Given the description of an element on the screen output the (x, y) to click on. 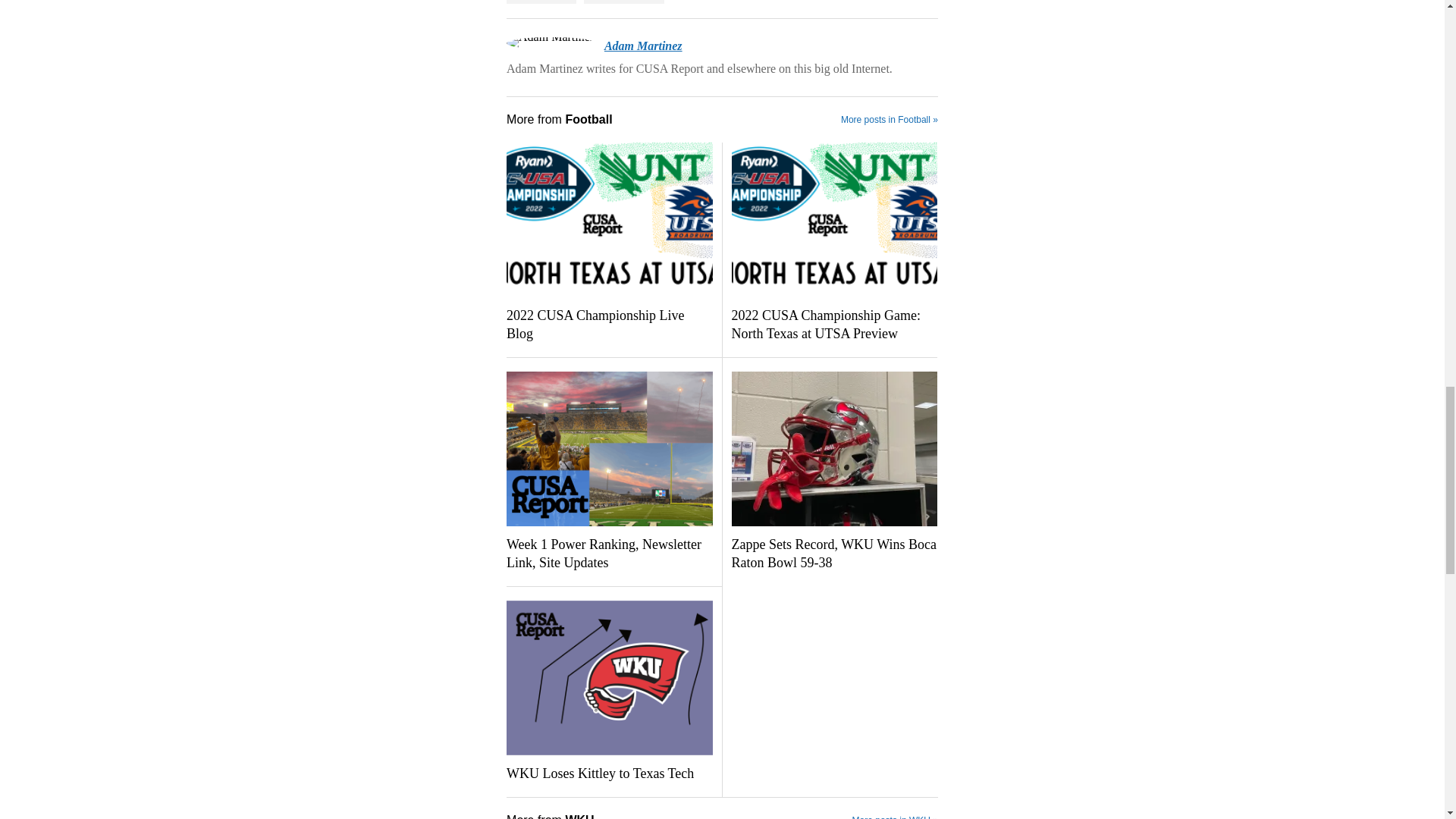
View all posts tagged Mike Sanford JR (623, 2)
2017 Reviews (541, 2)
2022 CUSA Championship Game: North Texas at UTSA Preview (833, 325)
2022 CUSA Championship Live Blog (608, 325)
View all posts tagged 2017 Reviews (541, 2)
WKU Loses Kittley to Texas Tech (608, 773)
Zappe Sets Record, WKU Wins Boca Raton Bowl 59-38 (833, 554)
Week 1 Power Ranking, Newsletter Link, Site Updates (608, 554)
Adam Martinez (643, 45)
Mike Sanford JR (623, 2)
